Given the description of an element on the screen output the (x, y) to click on. 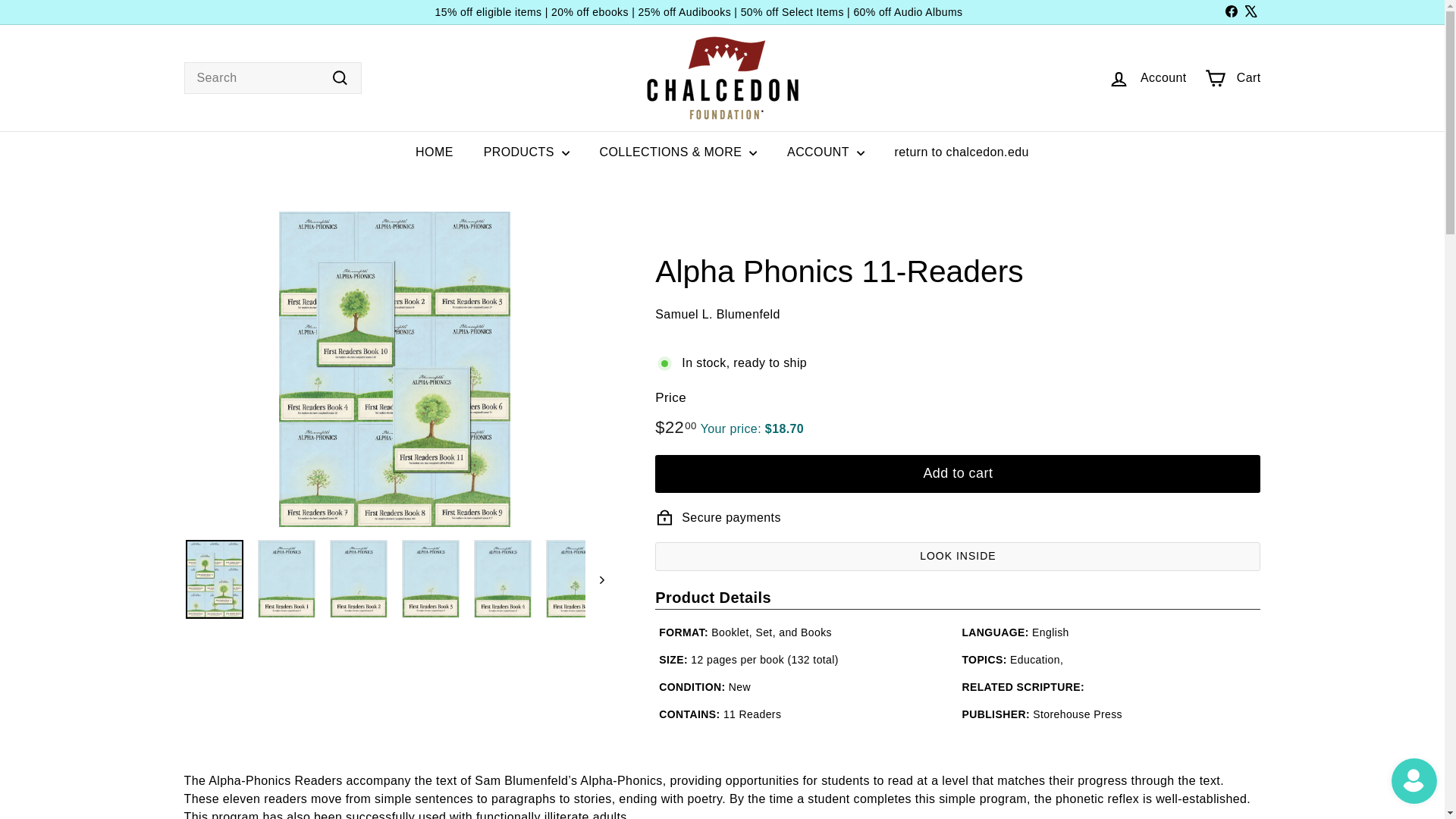
X (1250, 11)
HOME (434, 152)
Account (1147, 78)
Facebook (1230, 11)
Cart (1232, 78)
Chalcedon Store on Facebook (1230, 11)
Chalcedon Store on X (1250, 11)
